Given the description of an element on the screen output the (x, y) to click on. 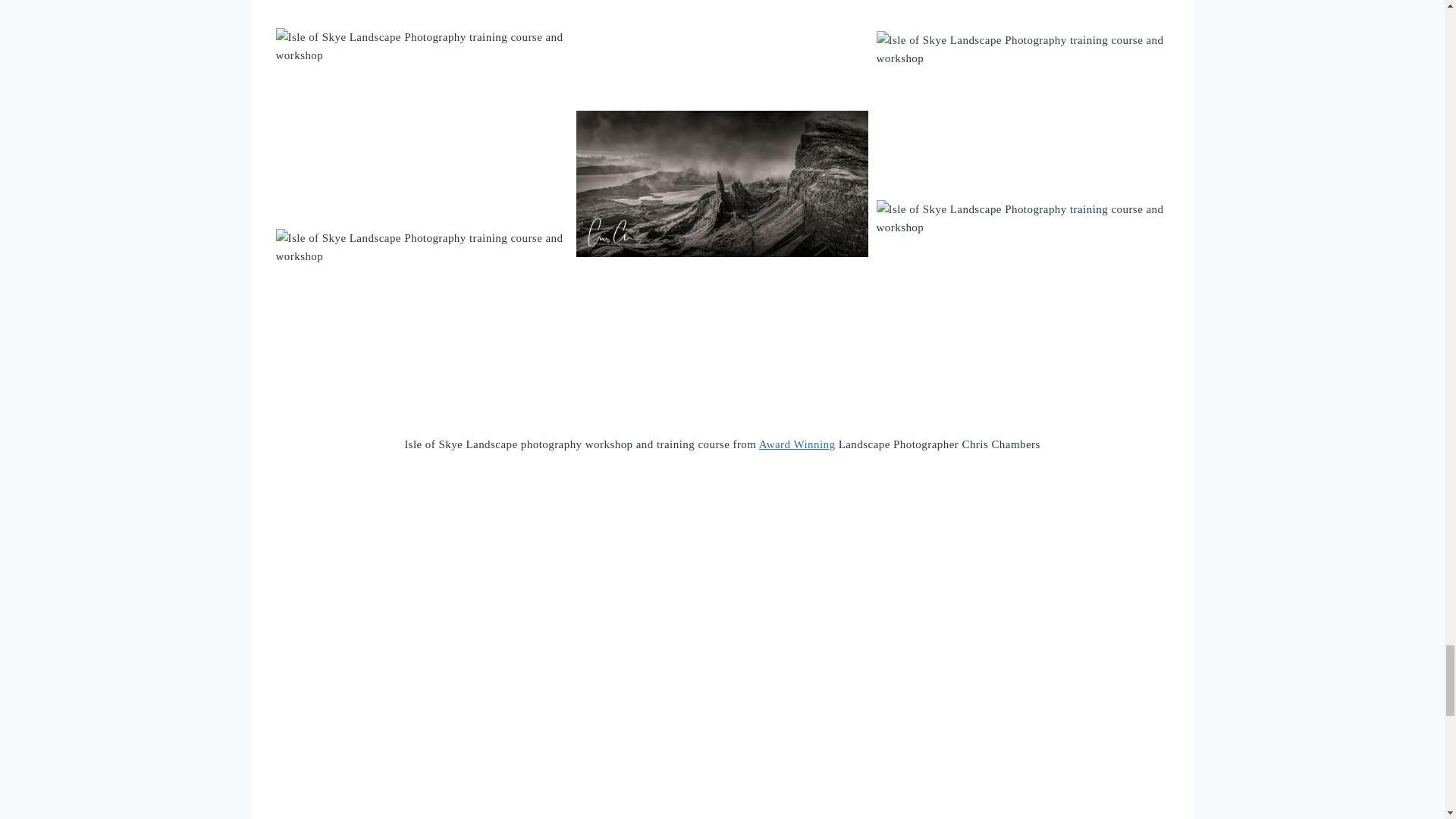
Award Winning (796, 444)
Award Winning (796, 444)
